Given the description of an element on the screen output the (x, y) to click on. 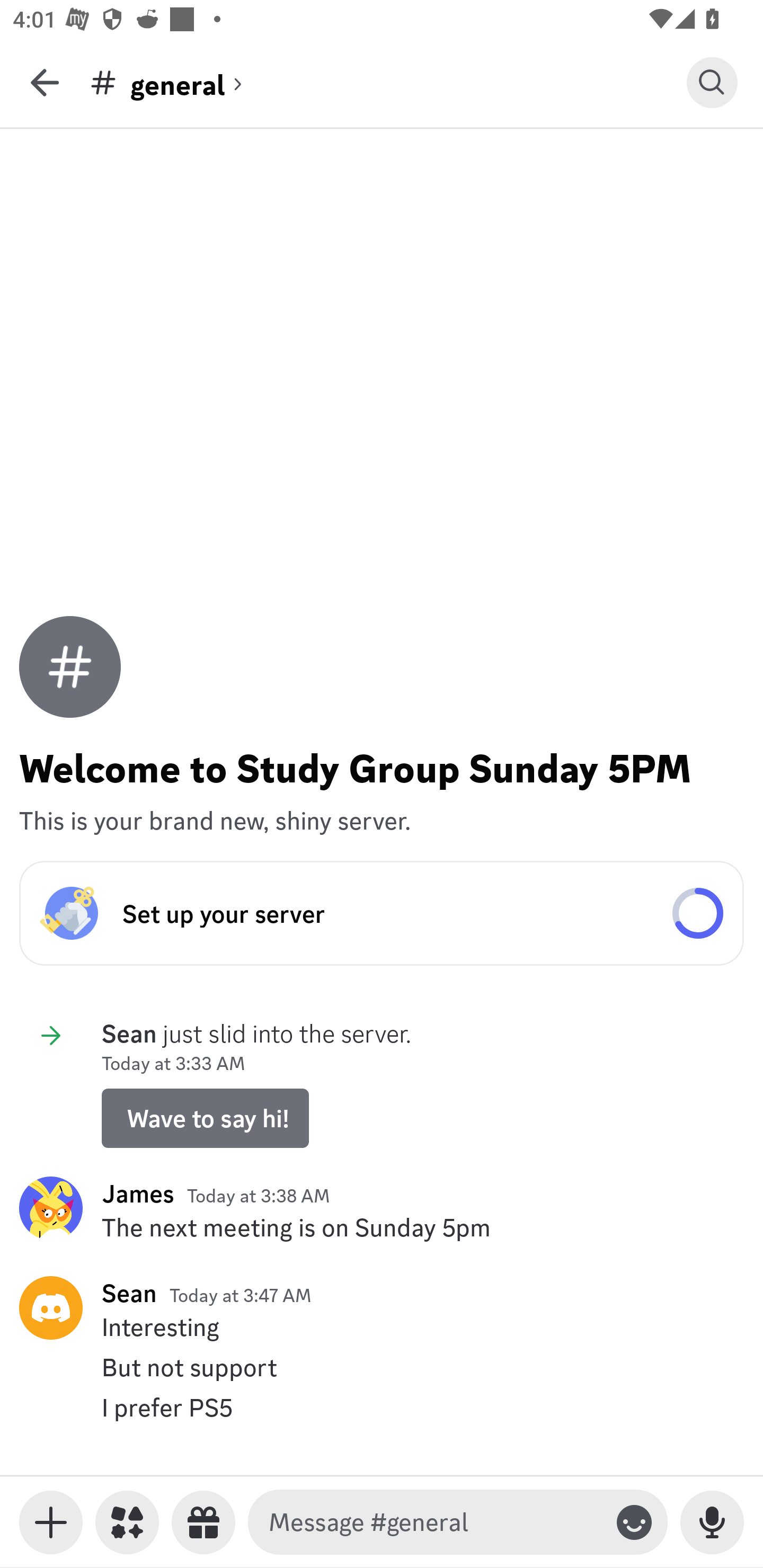
general (channel) general general (channel) (387, 82)
Back (44, 82)
Search (711, 82)
Set up your server (381, 912)
Wave to say hi! (205, 1117)
James (137, 1193)
Sean (129, 1292)
yuxiang.007, But not support But not support (381, 1366)
yuxiang.007, I prefer PS5 I prefer PS5 (381, 1406)
Toggle media keyboard (50, 1522)
Apps (126, 1522)
Send a gift (203, 1522)
Record Voice Message (711, 1522)
Message #general (433, 1522)
Toggle emoji keyboard (634, 1522)
